Given the description of an element on the screen output the (x, y) to click on. 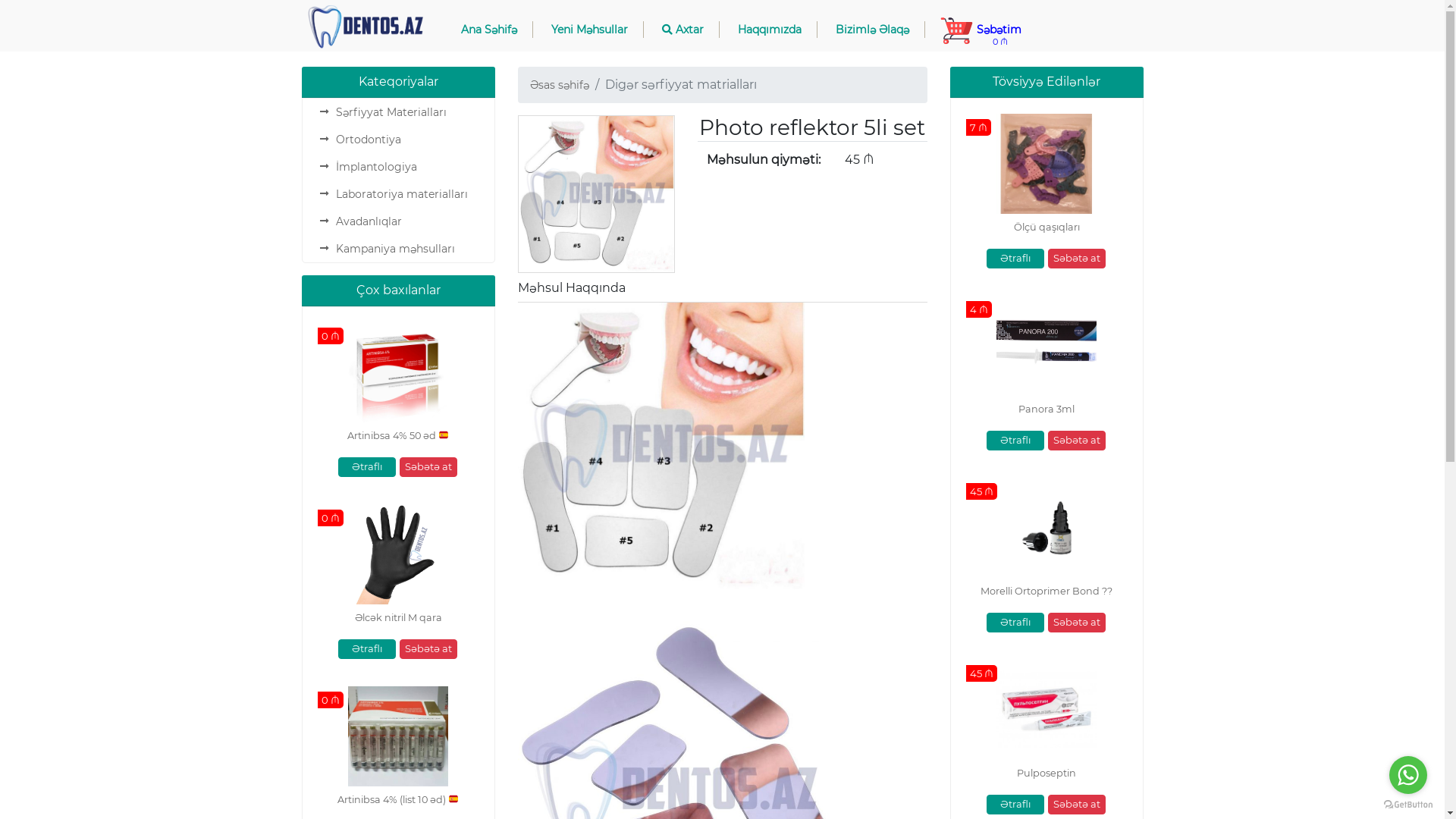
Ortodontiya Element type: text (367, 139)
Axtar Element type: text (682, 29)
